Given the description of an element on the screen output the (x, y) to click on. 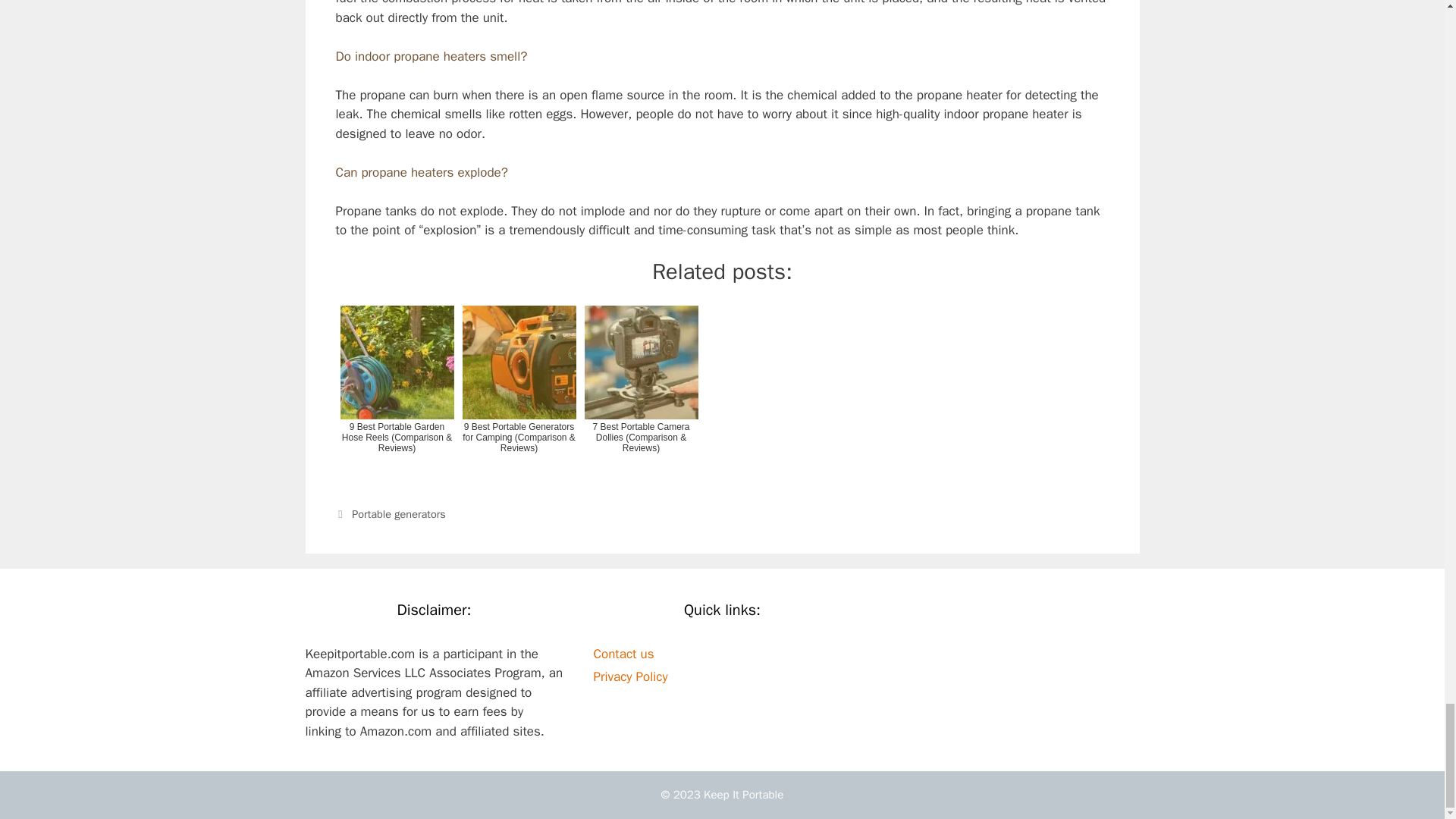
Privacy Policy (629, 676)
Contact us (622, 653)
Portable generators (398, 513)
